Given the description of an element on the screen output the (x, y) to click on. 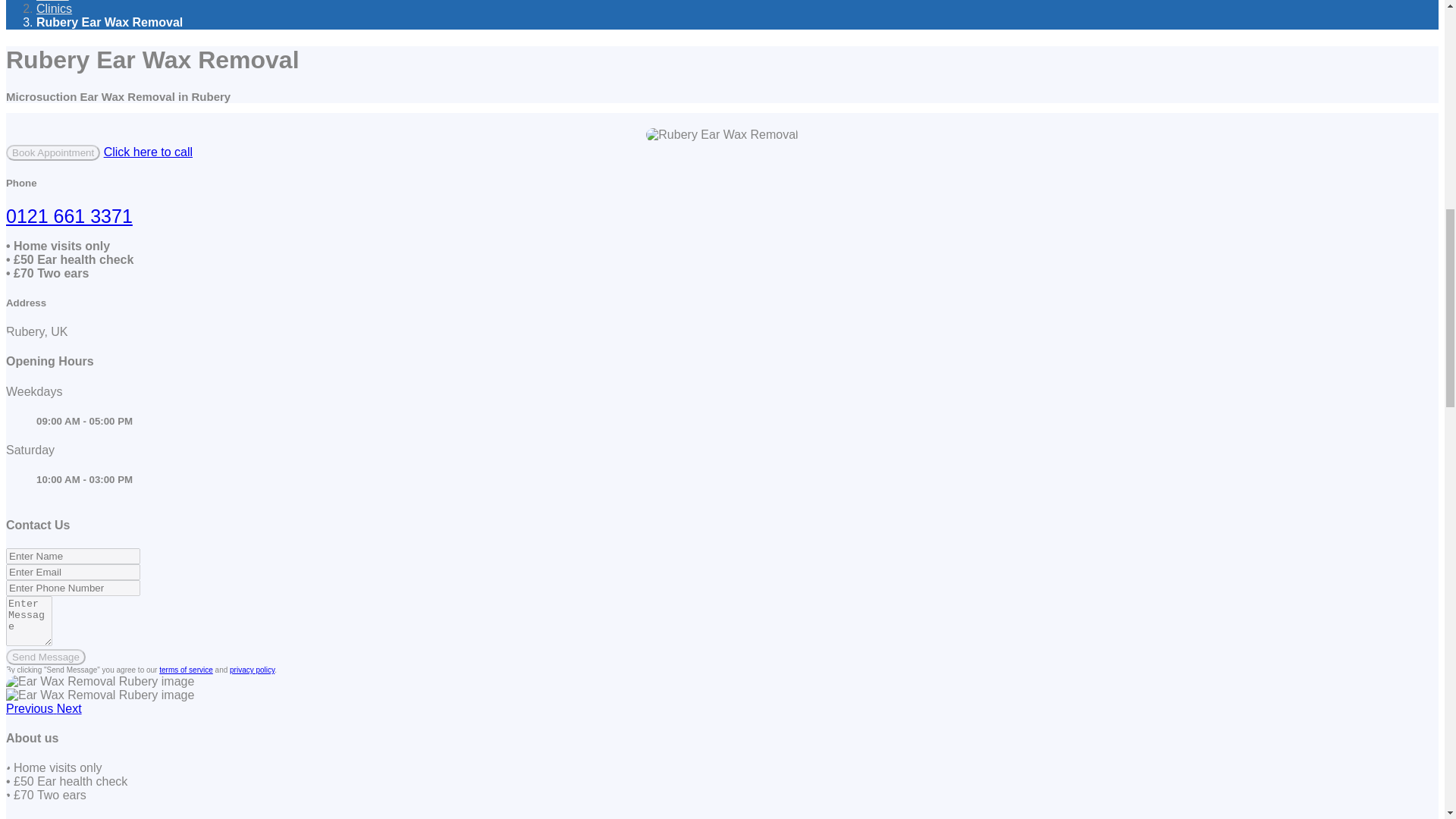
terms of service (185, 669)
Previous (30, 707)
Home (52, 0)
privacy policy (252, 669)
Click here to call (147, 151)
Send Message (45, 657)
0121 661 3371 (68, 215)
Next (68, 707)
Home (52, 0)
Clinics (53, 8)
Book Appointment (52, 151)
